Given the description of an element on the screen output the (x, y) to click on. 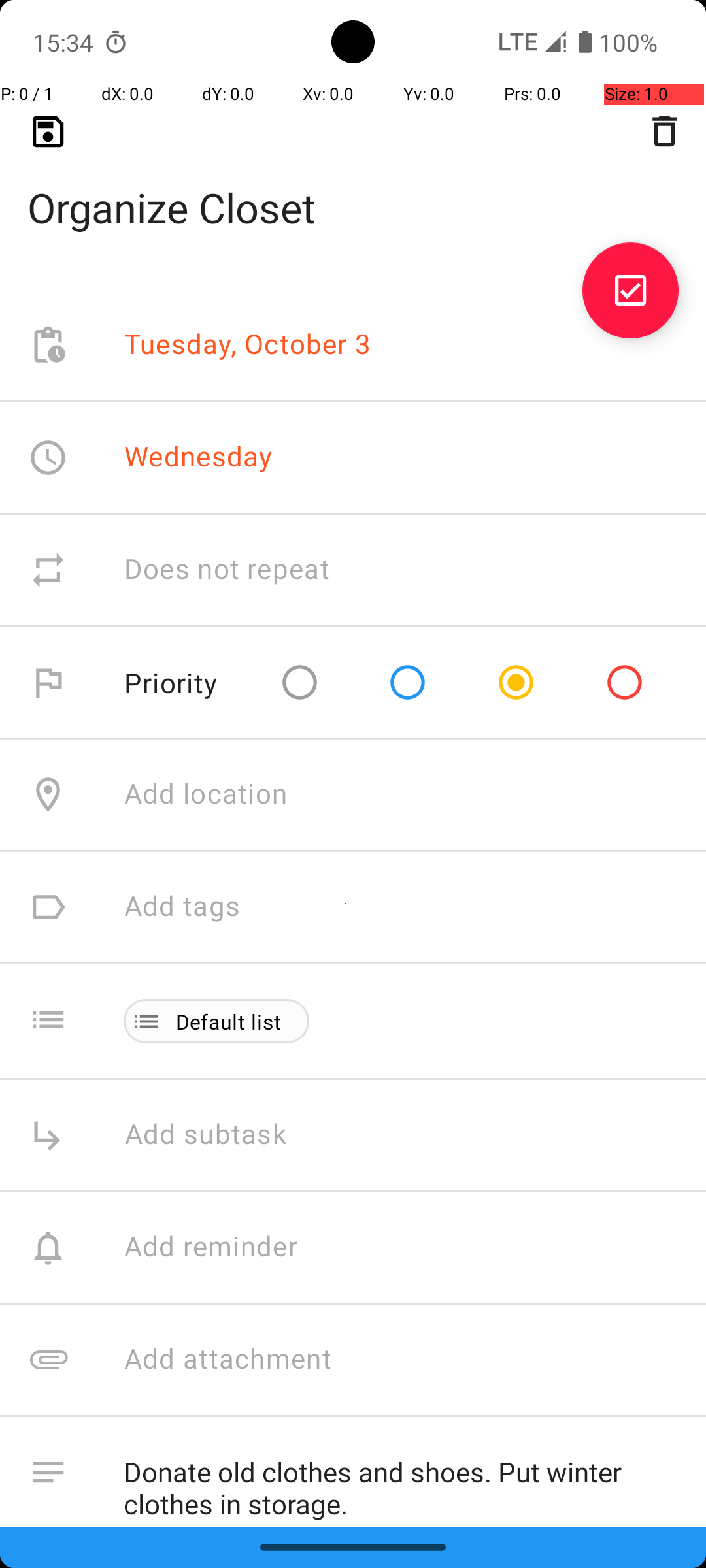
Donate old clothes and shoes. Put winter clothes in storage. Element type: android.widget.EditText (400, 1481)
Tuesday, October 3 Element type: android.widget.TextView (247, 344)
